Given the description of an element on the screen output the (x, y) to click on. 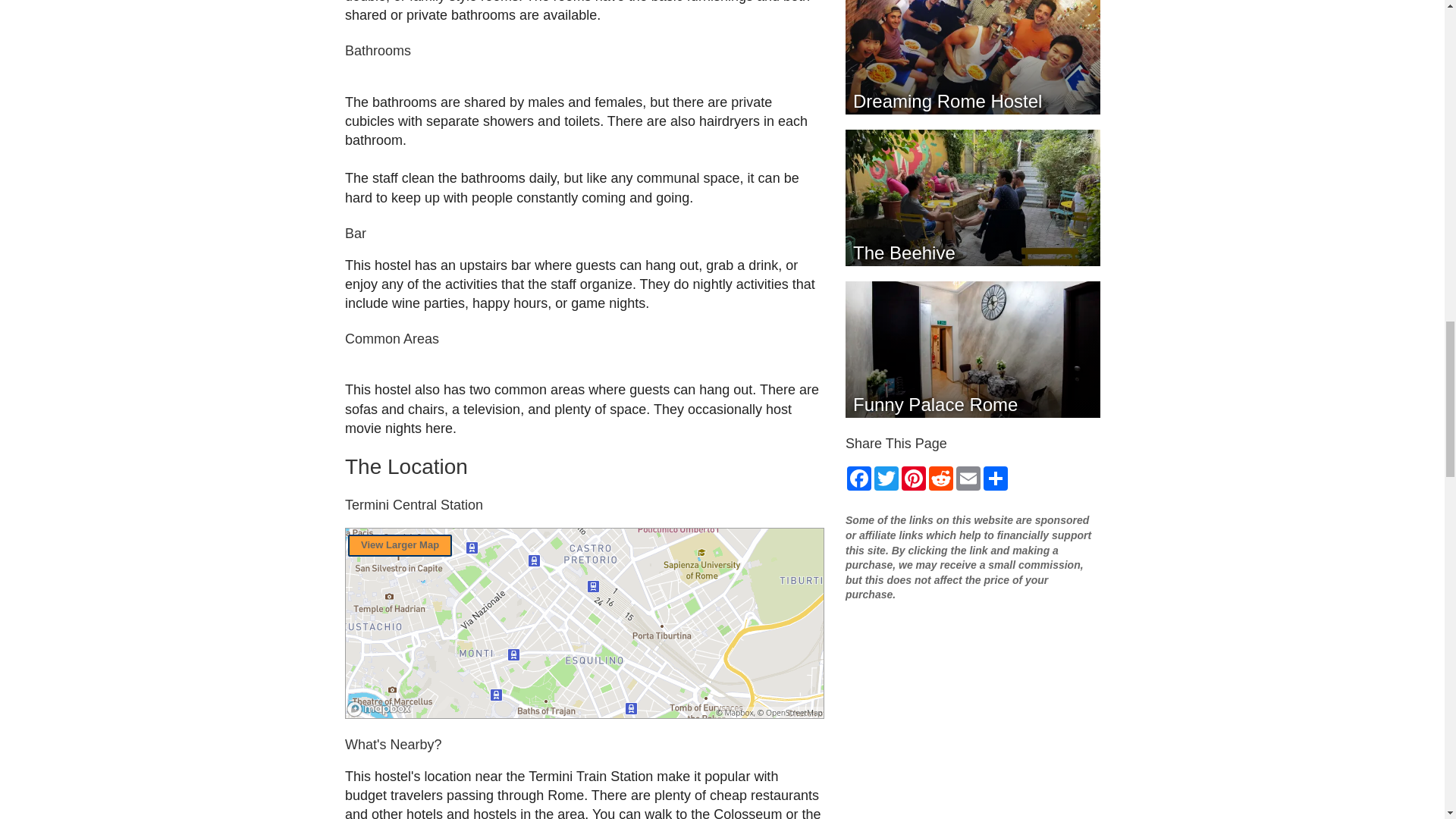
View Larger Map (399, 545)
Funny Palace Rome (971, 349)
Dreaming Rome Hostel (971, 57)
The Beehive (971, 197)
